Given the description of an element on the screen output the (x, y) to click on. 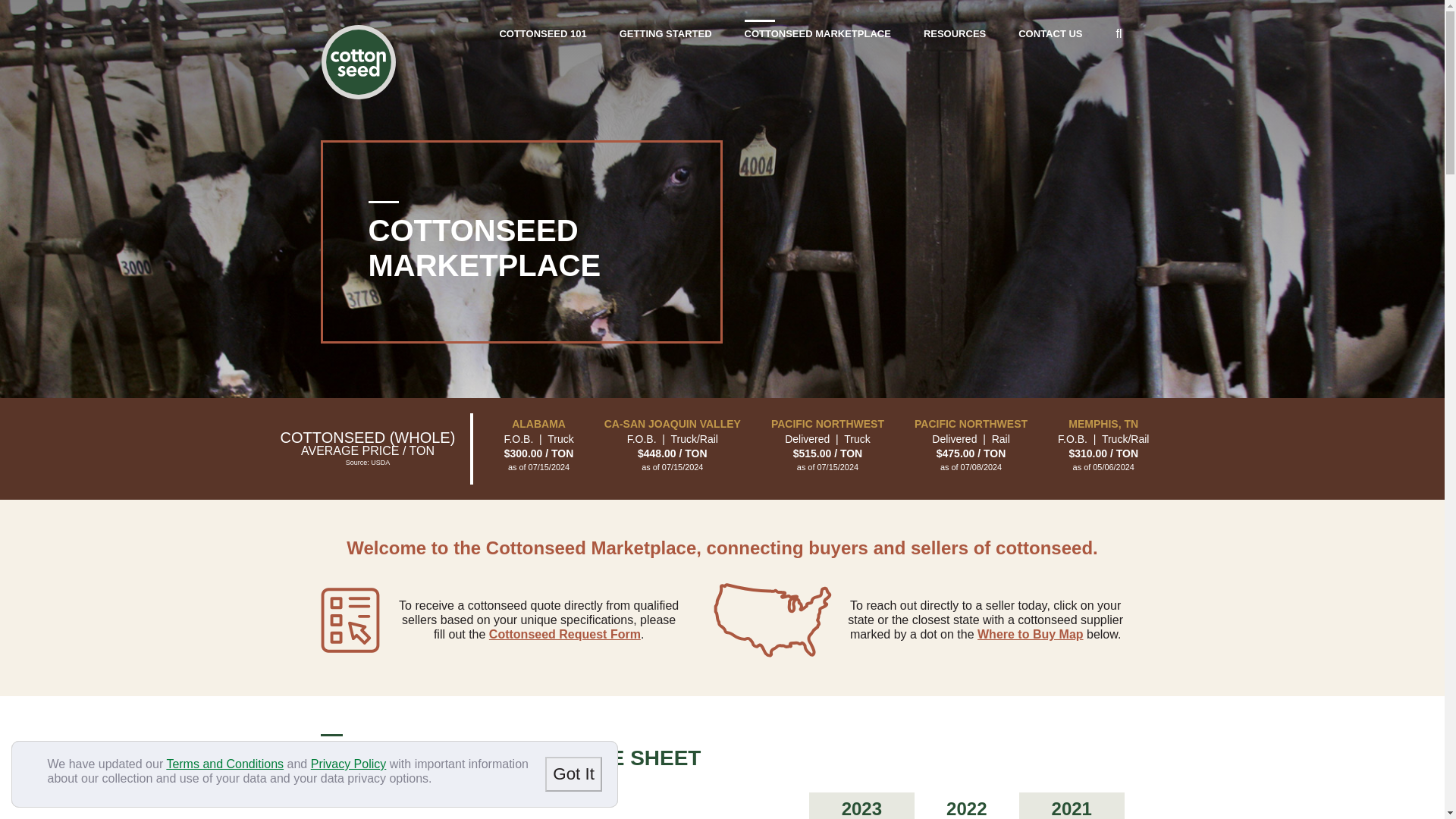
RESOURCES (954, 41)
Cottonseed Request Form (564, 634)
GETTING STARTED (665, 41)
CONTACT US (1049, 41)
Got It (573, 773)
Where to Buy Map (1029, 634)
Privacy Policy (349, 763)
Whole Cottonseed (358, 61)
COTTONSEED MARKETPLACE (817, 41)
Whole Cottonseed (358, 61)
COTTONSEED 101 (542, 41)
Terms and Conditions (224, 763)
